Given the description of an element on the screen output the (x, y) to click on. 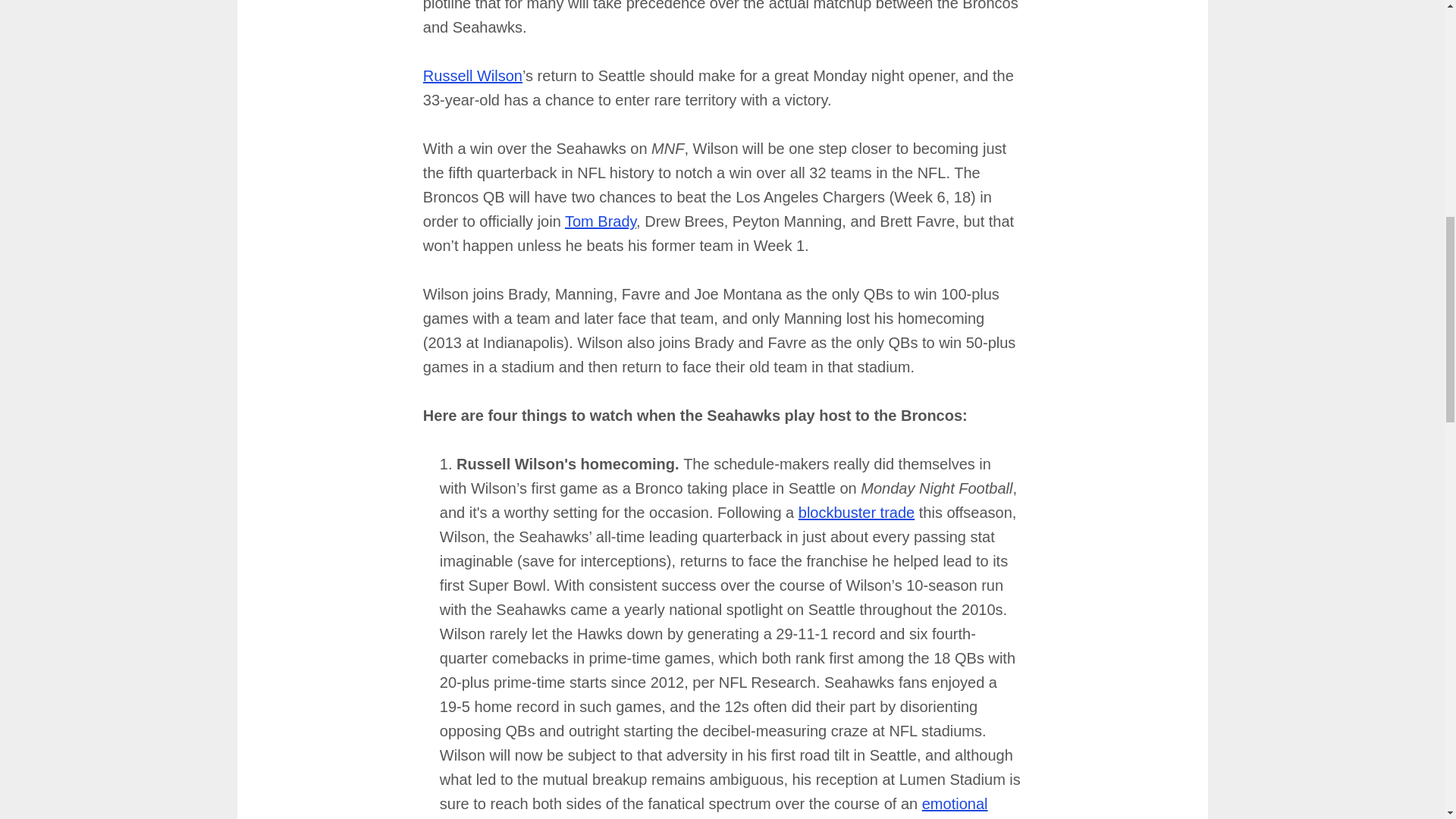
Russell Wilson (472, 75)
emotional night (713, 807)
blockbuster trade (855, 512)
Tom Brady (600, 221)
